Given the description of an element on the screen output the (x, y) to click on. 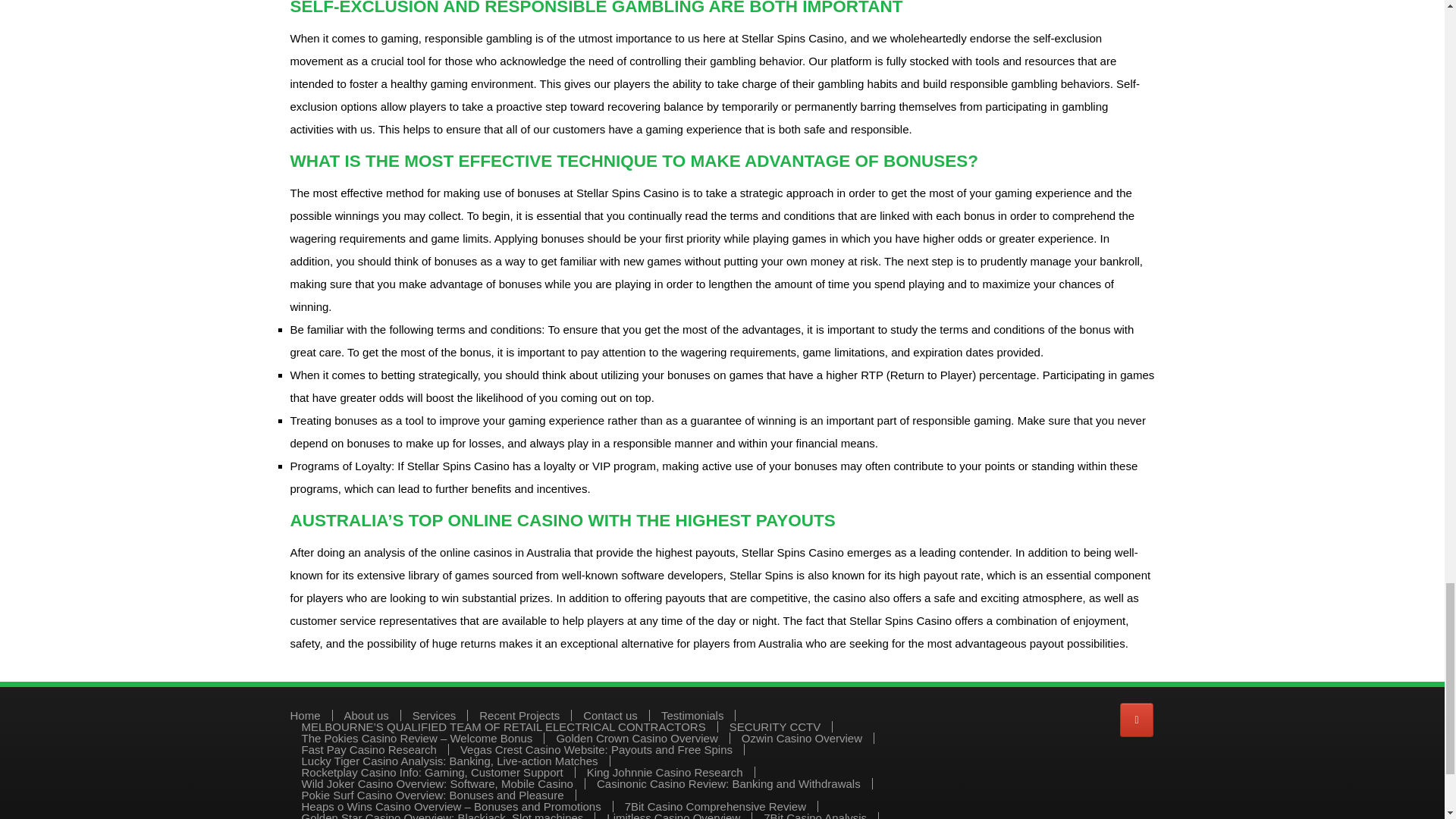
Rocketplay Casino Info: Gaming, Customer Support (432, 772)
Fast Pay Casino Research (368, 749)
Golden Crown Casino Overview (636, 737)
Testimonials (692, 715)
Recent Projects (519, 715)
King Johnnie Casino Research (664, 772)
Auspoint Electrical Services Pty Ltd on Google Plus (1136, 719)
Ozwin Casino Overview (801, 737)
About us (365, 715)
Lucky Tiger Casino Analysis: Banking, Live-action Matches (449, 760)
Wild Joker Casino Overview: Software, Mobile Casino (437, 783)
Home (304, 715)
Vegas Crest Casino Website: Payouts and Free Spins (596, 749)
Contact us (610, 715)
SECURITY CCTV (775, 726)
